Given the description of an element on the screen output the (x, y) to click on. 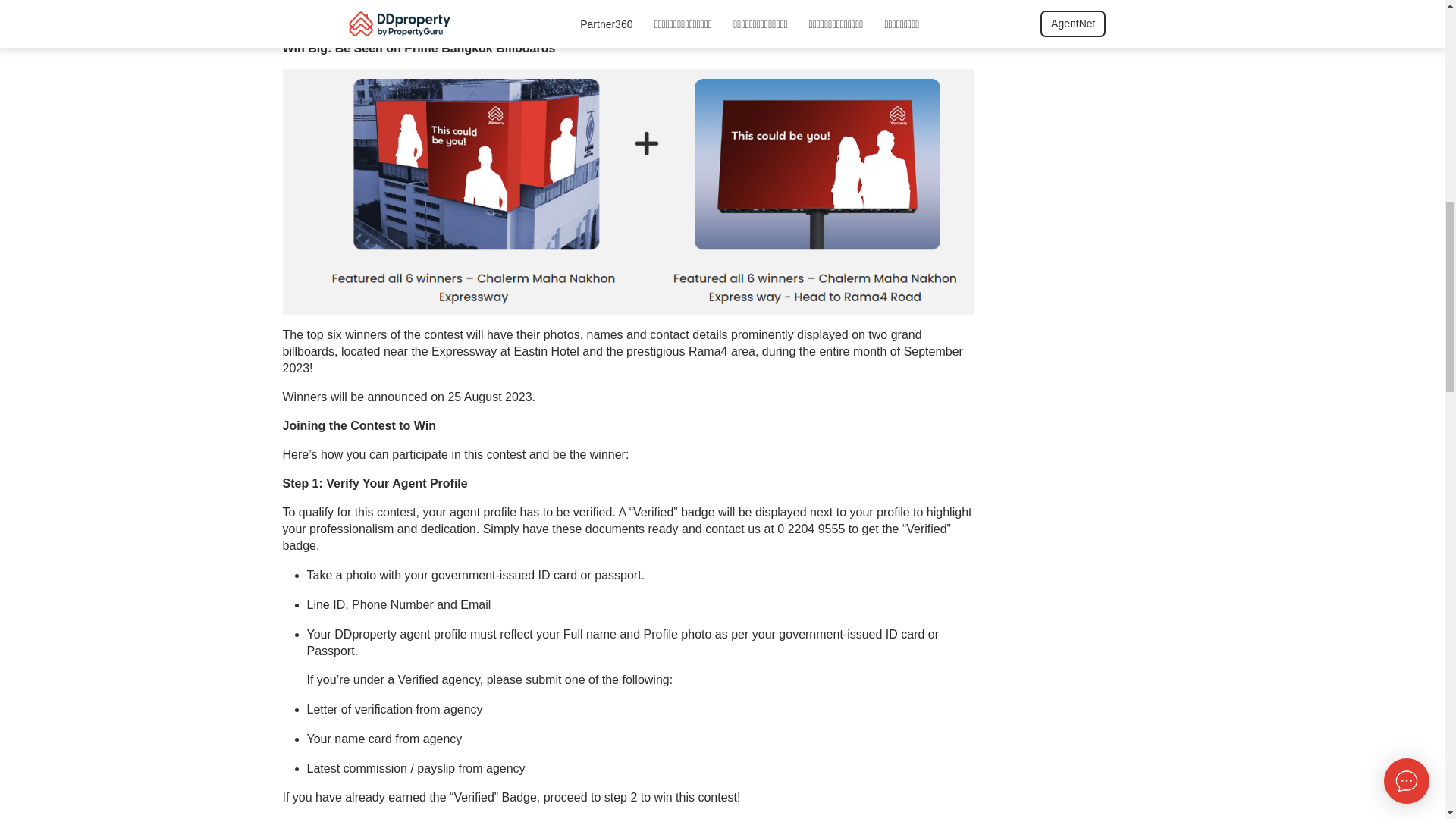
Learn more about Featured Agent (693, 19)
